Given the description of an element on the screen output the (x, y) to click on. 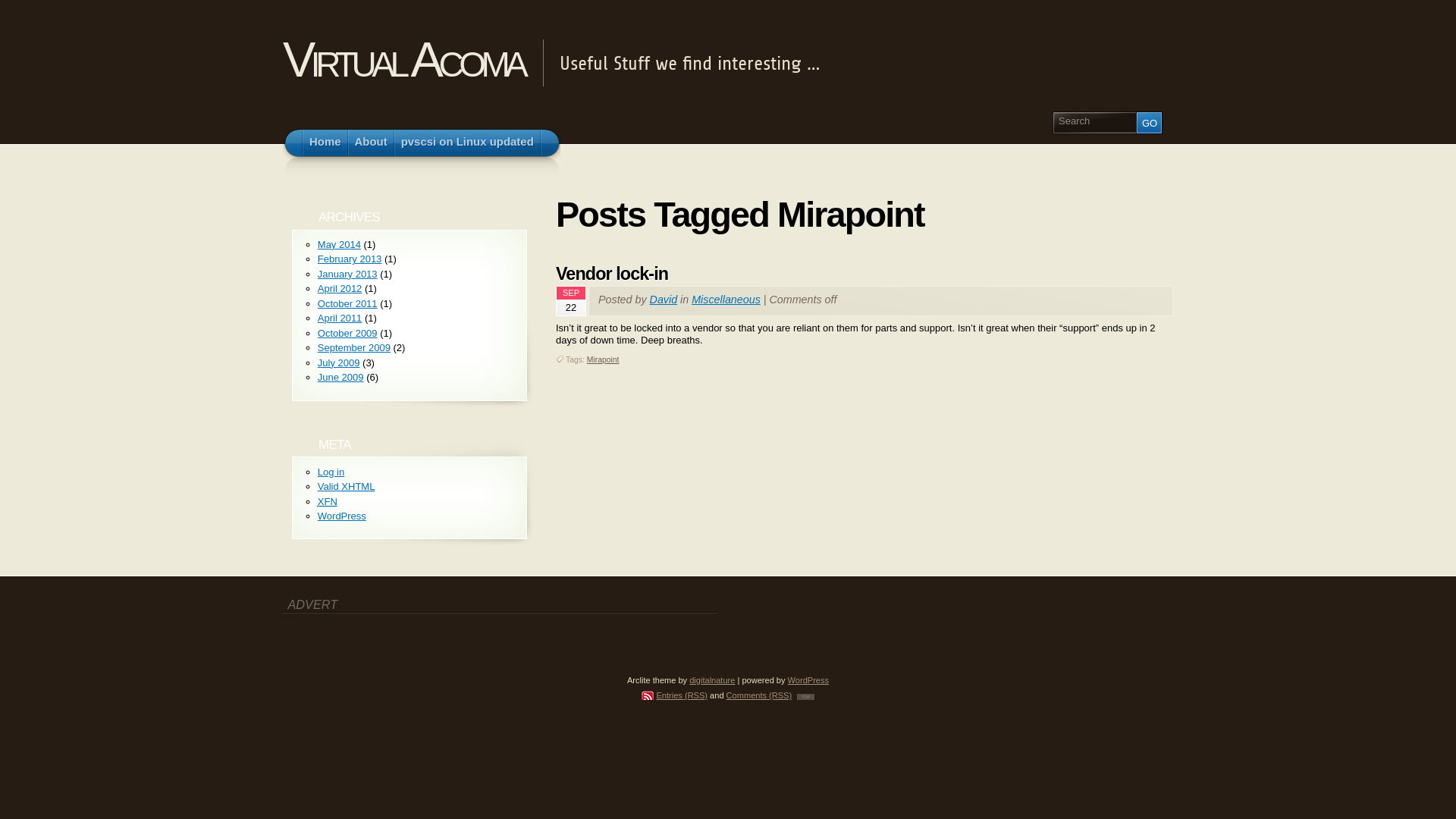
Home Element type: text (325, 142)
Entries (RSS) Element type: text (674, 694)
Log in Element type: text (330, 471)
February 2013 Element type: text (349, 258)
April 2012 Element type: text (339, 288)
pvscsi on Linux updated Element type: text (467, 142)
April 2011 Element type: text (339, 317)
Go Element type: text (1149, 122)
January 2013 Element type: text (347, 273)
digitalnature Element type: text (711, 679)
Vendor lock-in Element type: text (611, 273)
October 2009 Element type: text (347, 332)
XFN Element type: text (327, 501)
July 2009 Element type: text (338, 362)
TOP Element type: text (805, 696)
David Element type: text (663, 299)
June 2009 Element type: text (340, 376)
May 2014 Element type: text (338, 244)
October 2011 Element type: text (347, 303)
Valid XHTML Element type: text (346, 486)
Comments (RSS) Element type: text (759, 694)
Advertisement Element type: hover (371, 639)
WordPress Element type: text (341, 515)
WordPress Element type: text (807, 679)
Mirapoint Element type: text (602, 359)
September 2009 Element type: text (353, 347)
Miscellaneous Element type: text (725, 299)
About Element type: text (370, 142)
Virtual Acoma Element type: text (402, 59)
